Given the description of an element on the screen output the (x, y) to click on. 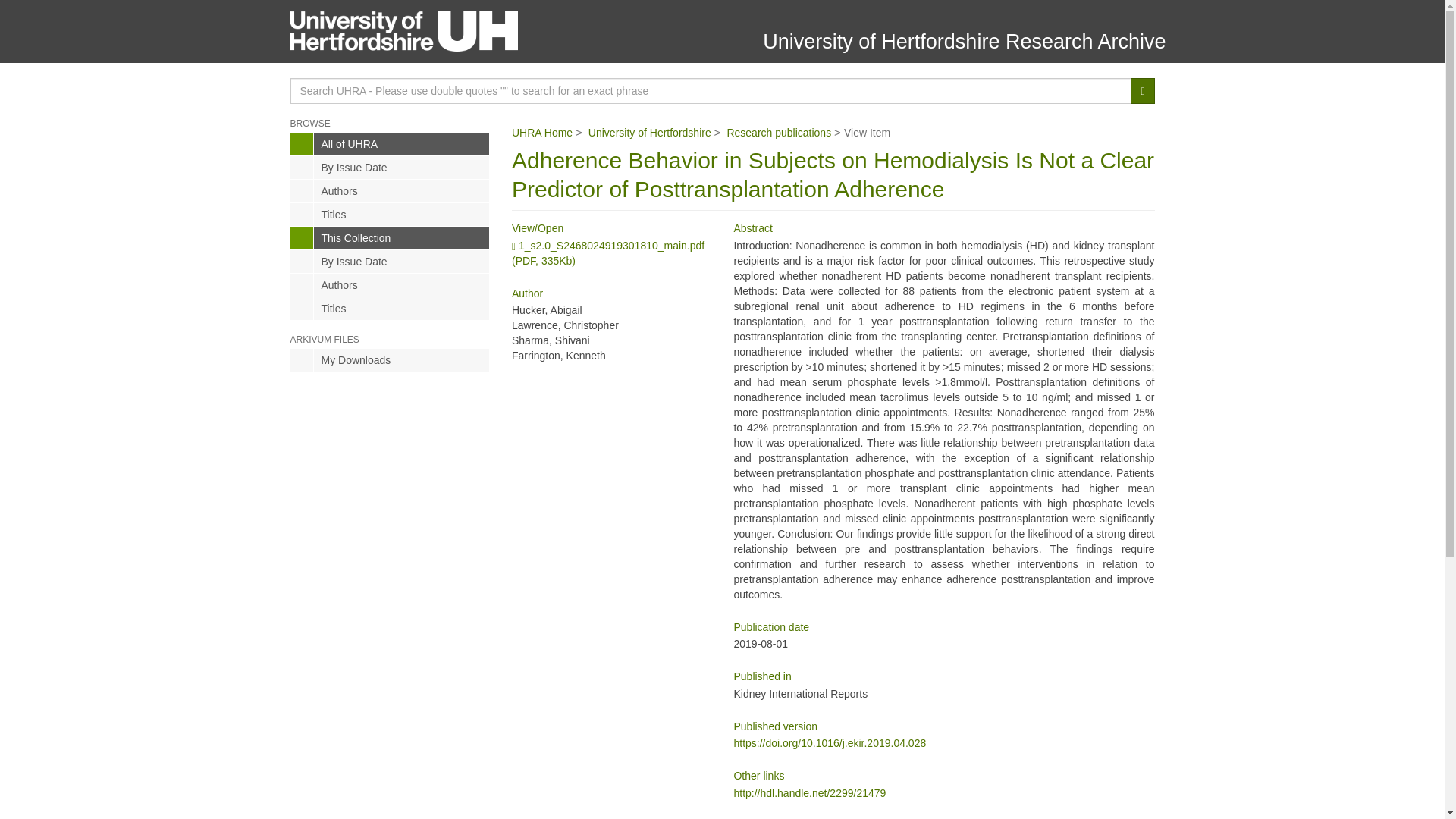
All of UHRA (389, 143)
Authors (389, 190)
Research publications (778, 132)
Authors (389, 284)
By Issue Date (389, 167)
Titles (389, 308)
This Collection (389, 237)
Titles (389, 214)
Go (1142, 90)
By Issue Date (389, 261)
